Given the description of an element on the screen output the (x, y) to click on. 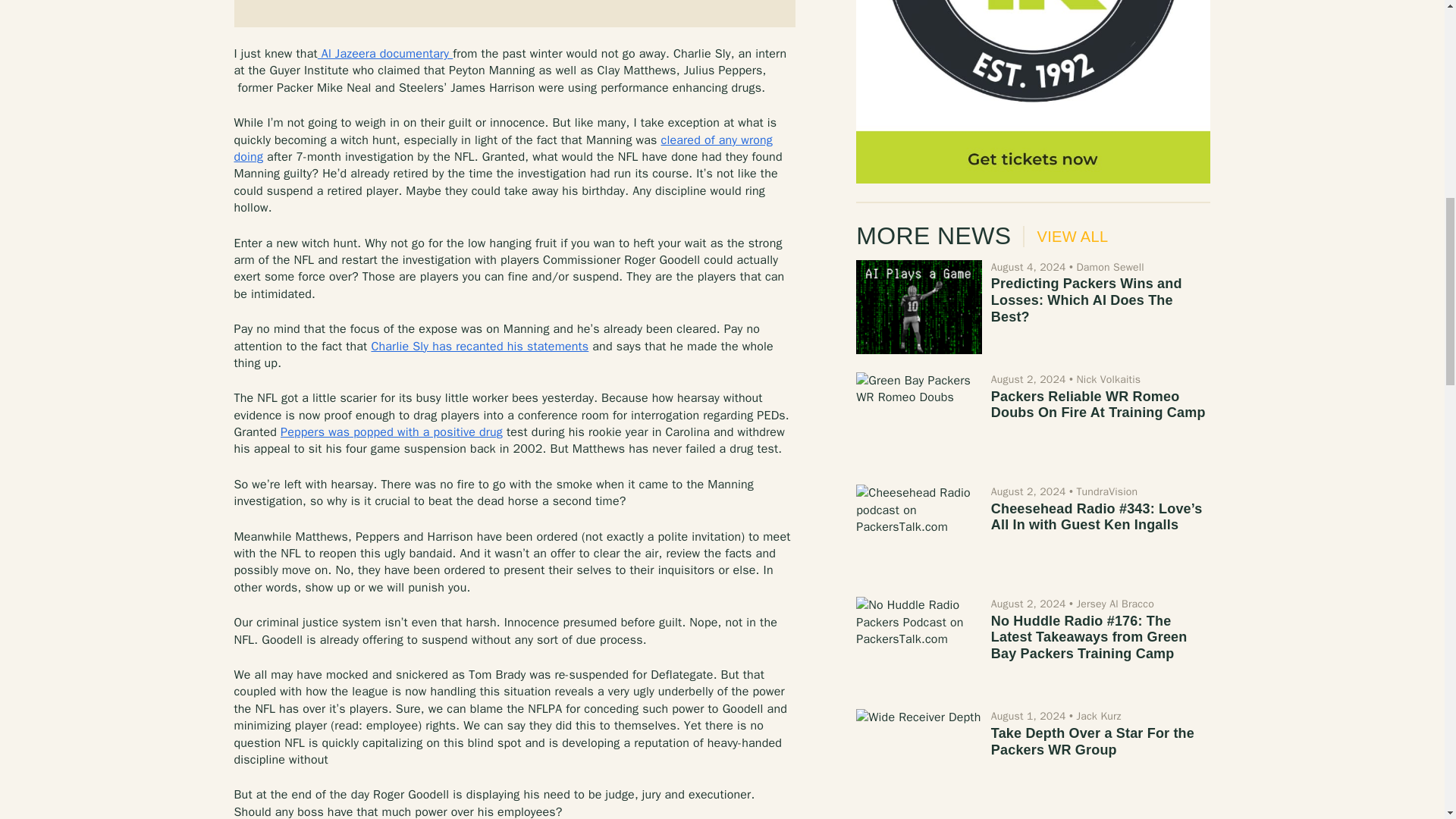
Predicting Packers Wins and Losses: Which AI Does The Best? (1086, 299)
Take Depth Over a Star For the Packers WR Group (918, 756)
Take Depth Over a Star For the Packers WR Group (1092, 741)
VIEW ALL (1065, 236)
cleared of any wrong doing (501, 148)
Al Jazeera documentary  (384, 53)
Predicting Packers Wins and Losses: Which AI Does The Best? (918, 306)
Packers Reliable WR Romeo Doubs On Fire At Training Camp (918, 419)
Charlie Sly has recanted his statements (479, 346)
Packers Reliable WR Romeo Doubs On Fire At Training Camp (1098, 404)
Predicting Packers Wins and Losses: Which AI Does The Best? (1086, 299)
Peppers was popped with a positive drug (391, 432)
Damon Sewell (1108, 267)
